Given the description of an element on the screen output the (x, y) to click on. 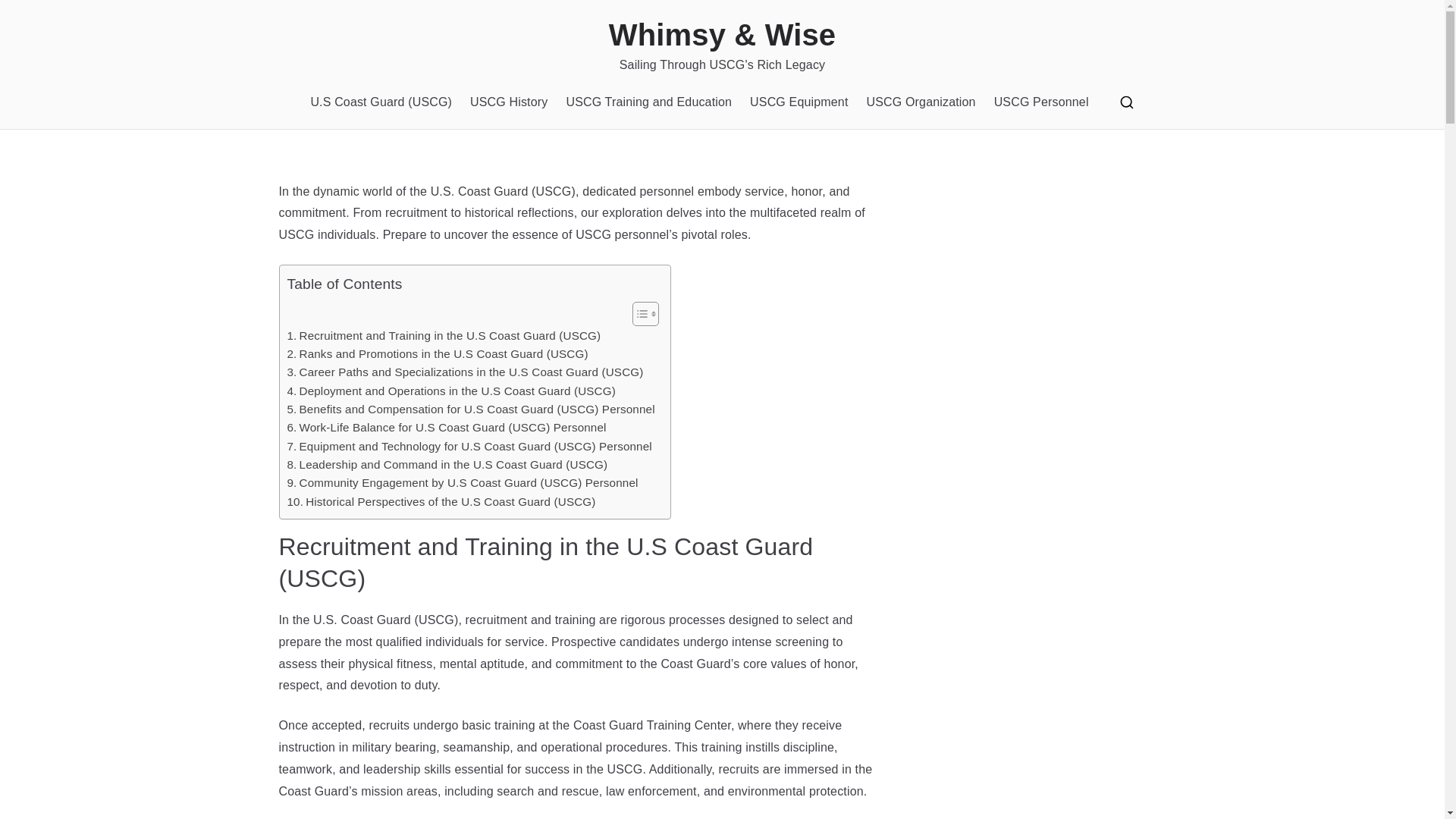
USCG Personnel (1041, 102)
USCG Training and Education (649, 102)
Search (26, 12)
USCG Organization (920, 102)
Search (26, 18)
USCG Equipment (798, 102)
USCG History (508, 102)
